Given the description of an element on the screen output the (x, y) to click on. 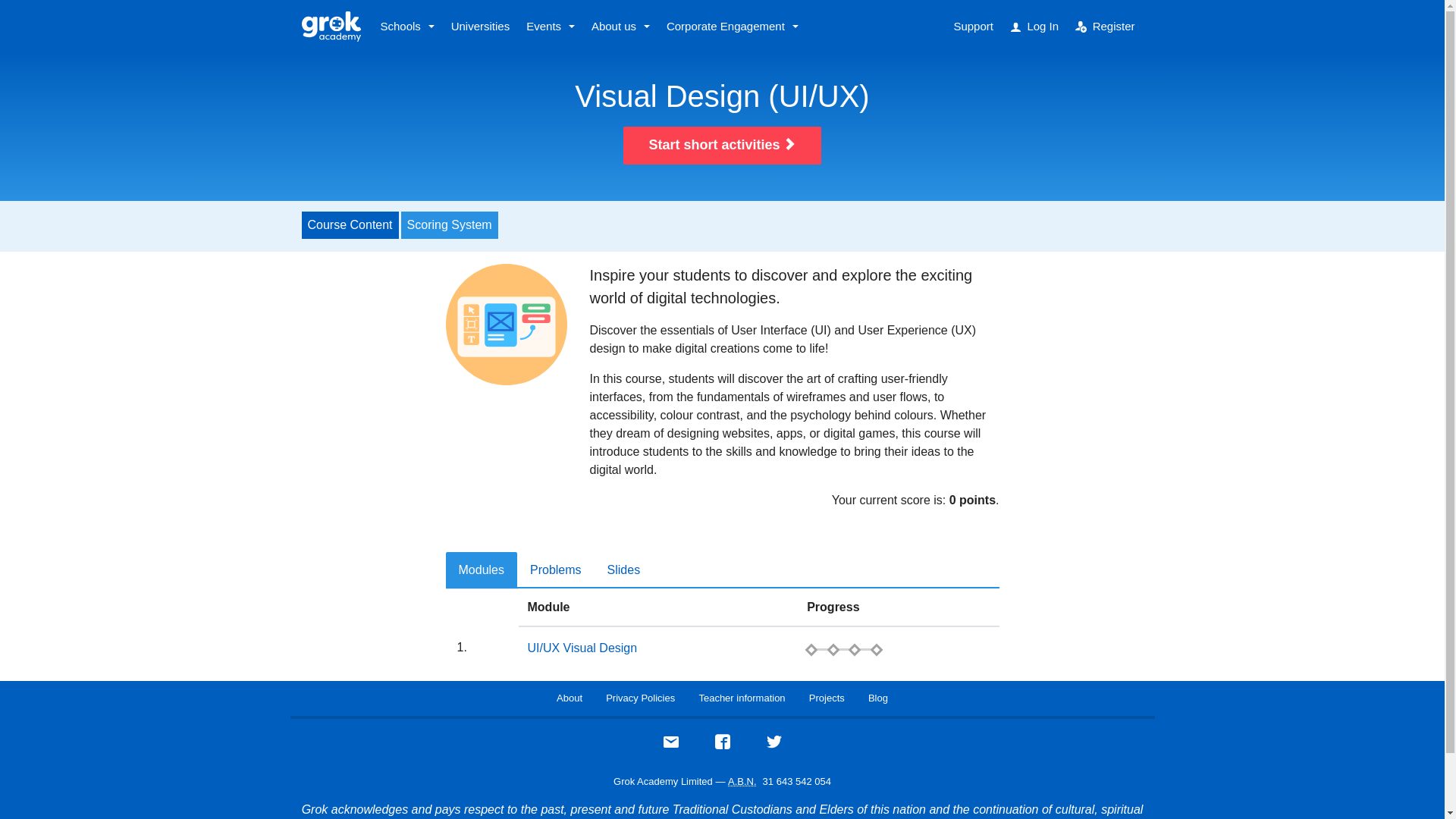
Email (670, 746)
Australian Business Number (742, 781)
About us (620, 27)
Universities (480, 27)
Twitter (773, 746)
Schools (406, 27)
Events (550, 27)
Facebook (721, 746)
Corporate Engagement (732, 27)
